Given the description of an element on the screen output the (x, y) to click on. 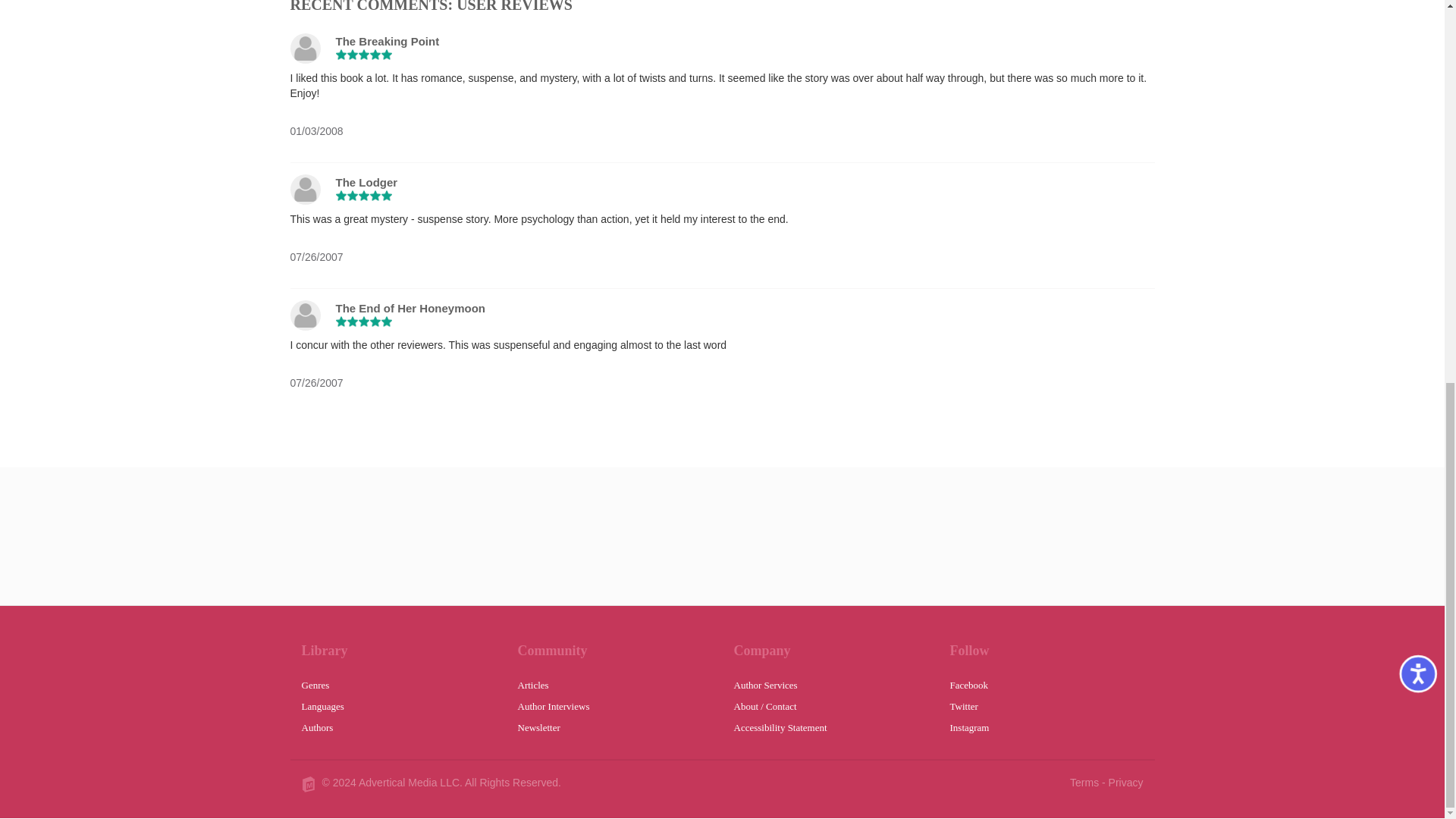
The Lodger (365, 182)
Languages (397, 700)
The Breaking Point (386, 41)
Authors (397, 721)
Genres (397, 679)
The End of Her Honeymoon (409, 308)
